Given the description of an element on the screen output the (x, y) to click on. 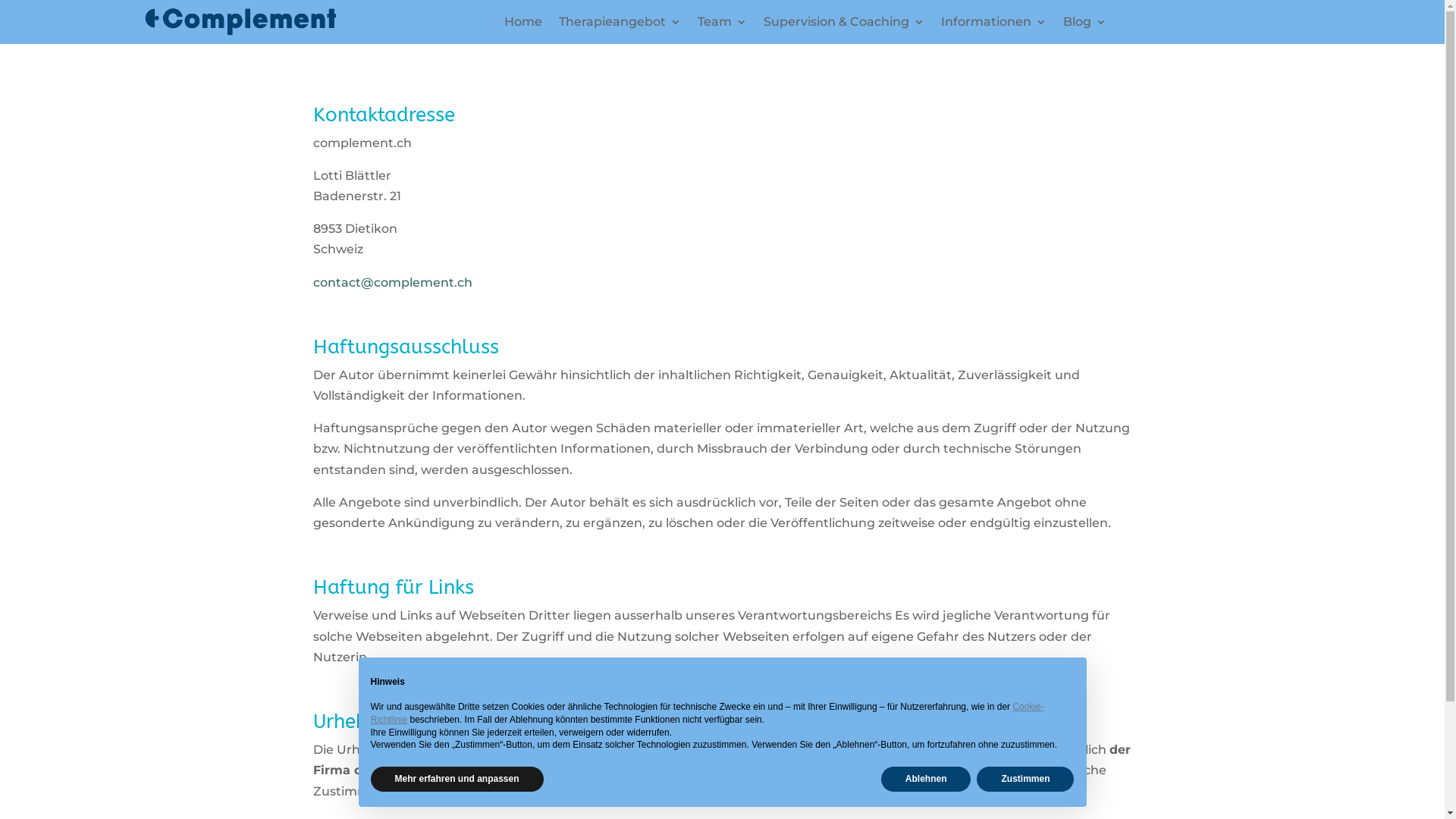
Therapieangebot Element type: text (619, 24)
Logo-Complement Element type: hover (240, 21)
Blog Element type: text (1084, 24)
contact@complement.ch Element type: text (391, 282)
Zustimmen Element type: text (1024, 778)
Supervision & Coaching Element type: text (843, 24)
Team Element type: text (721, 24)
Home Element type: text (523, 24)
Informationen Element type: text (993, 24)
Ablehnen Element type: text (926, 778)
Cookie-Richtlinie Element type: text (706, 712)
Mehr erfahren und anpassen Element type: text (456, 778)
